Given the description of an element on the screen output the (x, y) to click on. 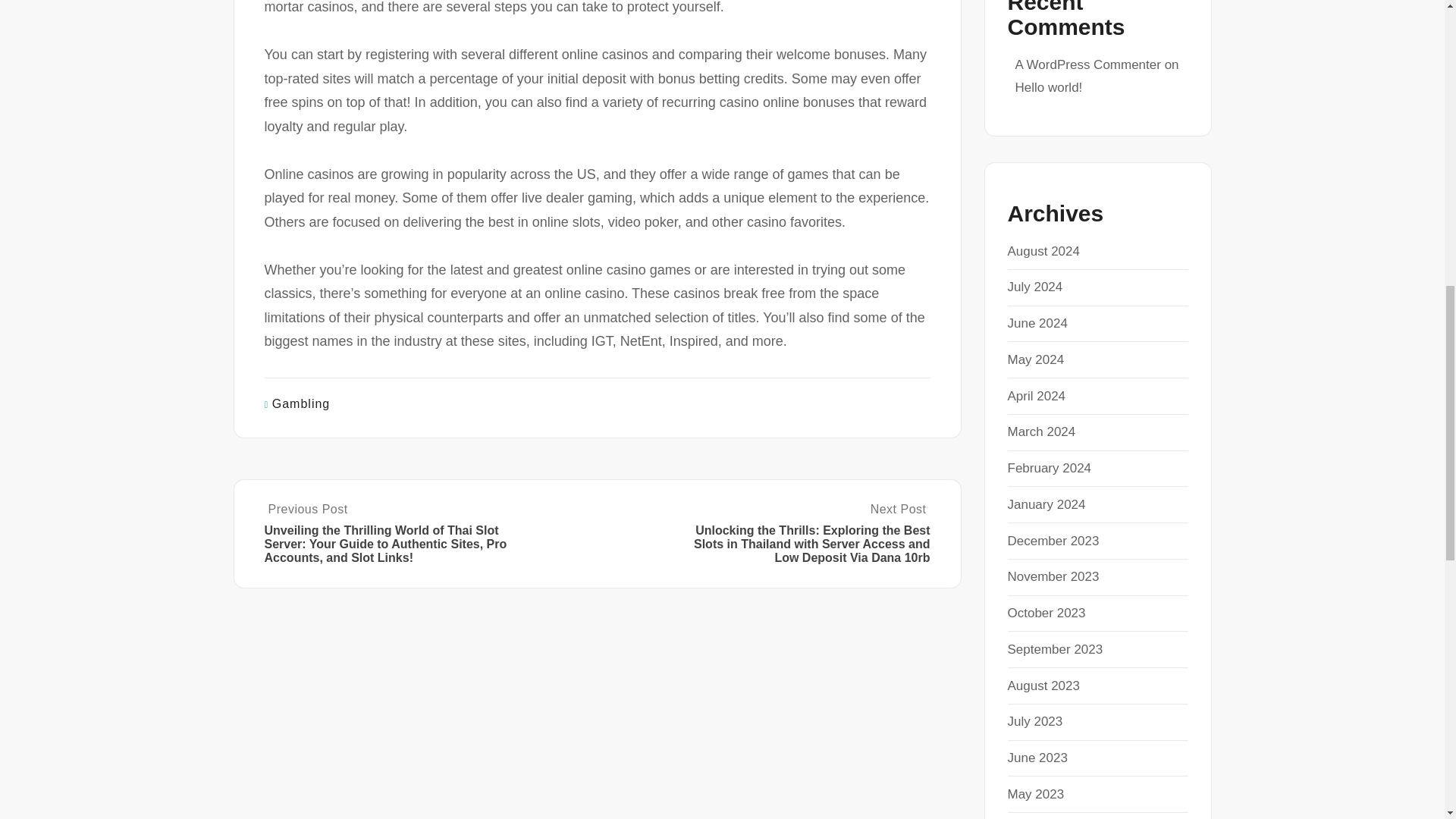
July 2023 (1034, 721)
February 2024 (1048, 468)
June 2024 (1037, 323)
A WordPress Commenter (1087, 64)
March 2024 (1041, 431)
Hello world! (1047, 87)
Gambling (301, 403)
August 2023 (1042, 685)
May 2024 (1035, 359)
